Given the description of an element on the screen output the (x, y) to click on. 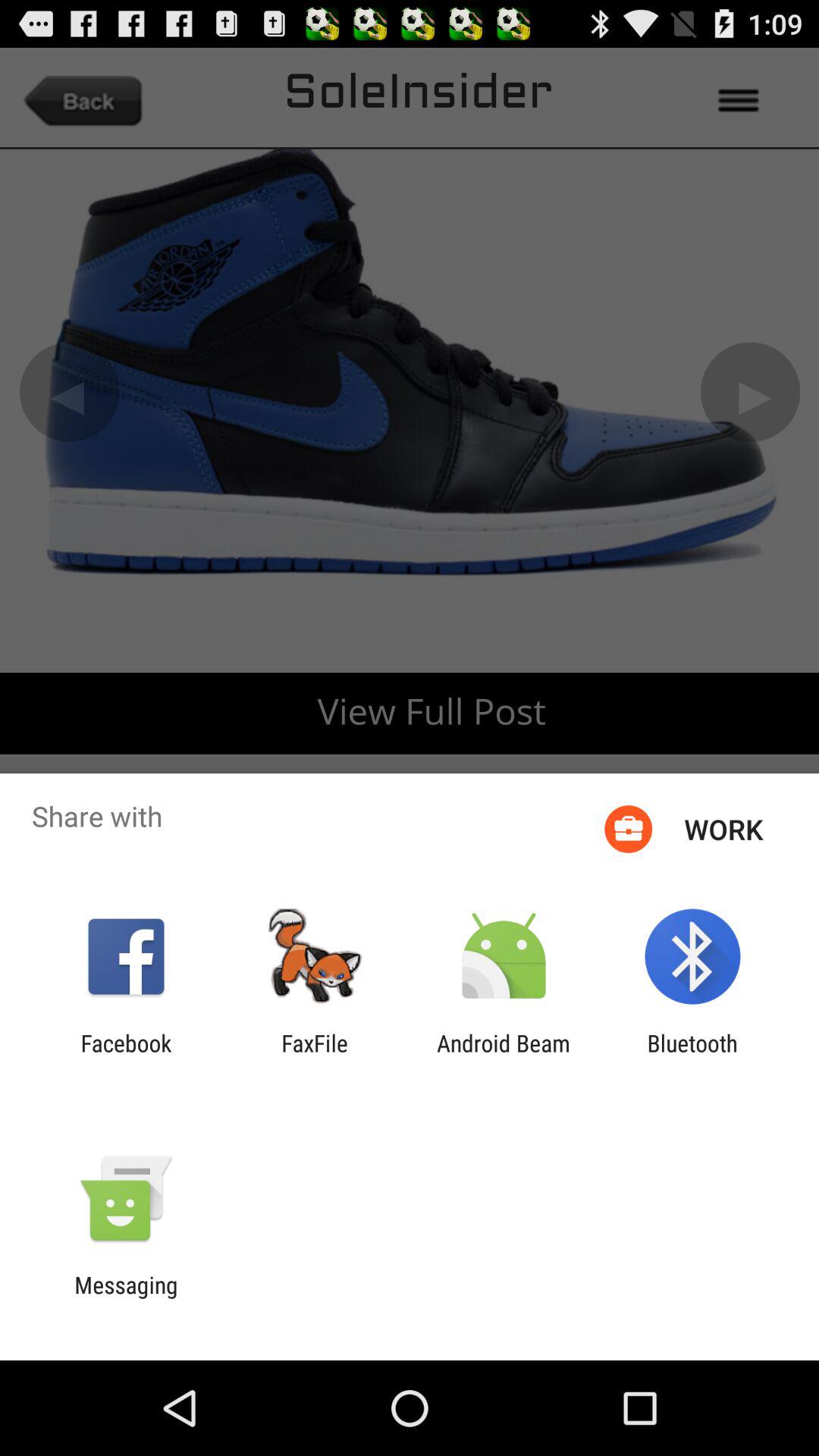
turn on the icon to the right of facebook (314, 1056)
